Given the description of an element on the screen output the (x, y) to click on. 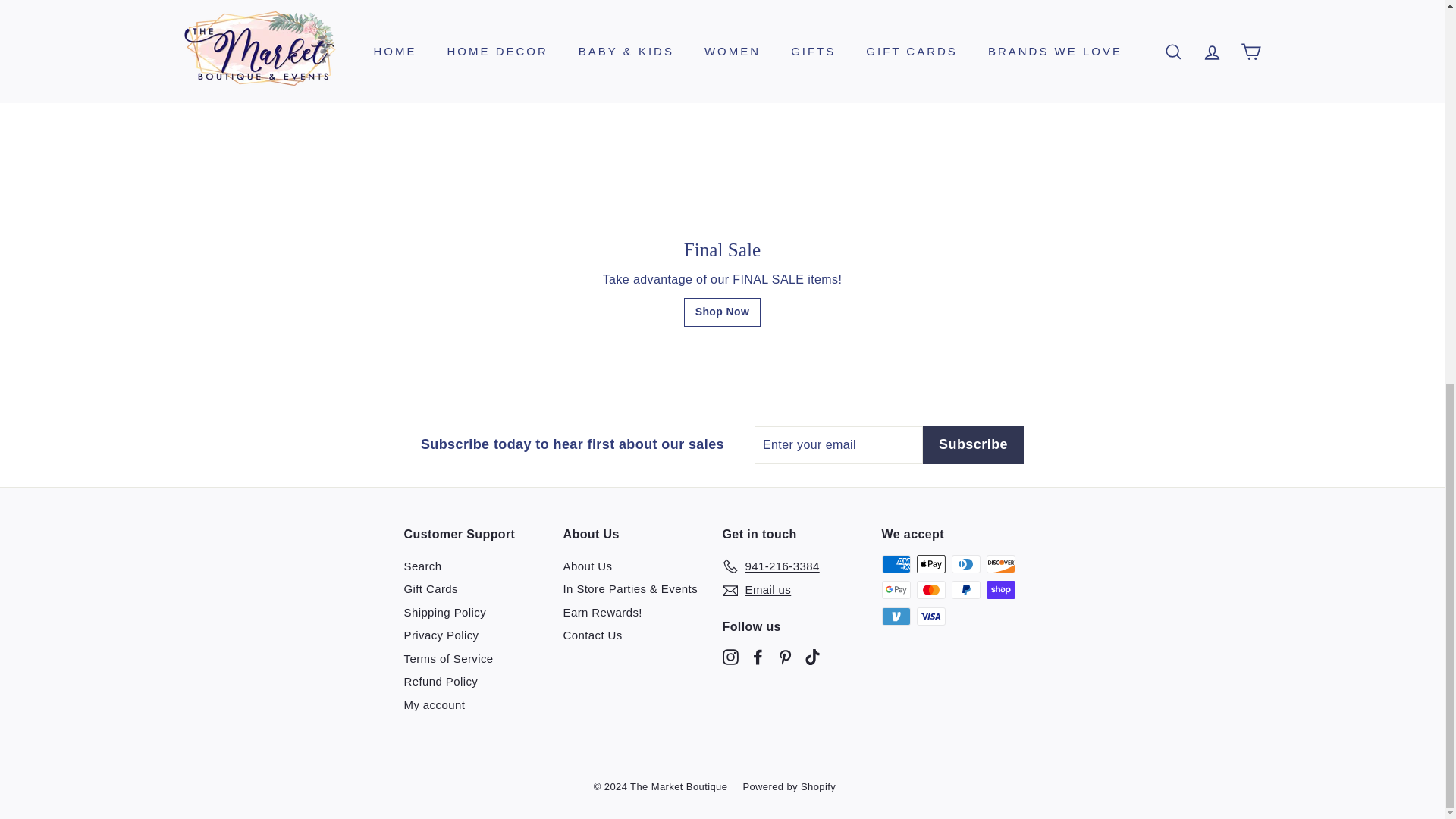
Mastercard (929, 589)
The Market Boutique on Pinterest (784, 656)
American Express (895, 564)
Diners Club (964, 564)
PayPal (964, 589)
Google Pay (895, 589)
The Market Boutique on Facebook (757, 656)
The Market Boutique on TikTok (811, 656)
The Market Boutique on Instagram (730, 656)
Apple Pay (929, 564)
Discover (999, 564)
